Given the description of an element on the screen output the (x, y) to click on. 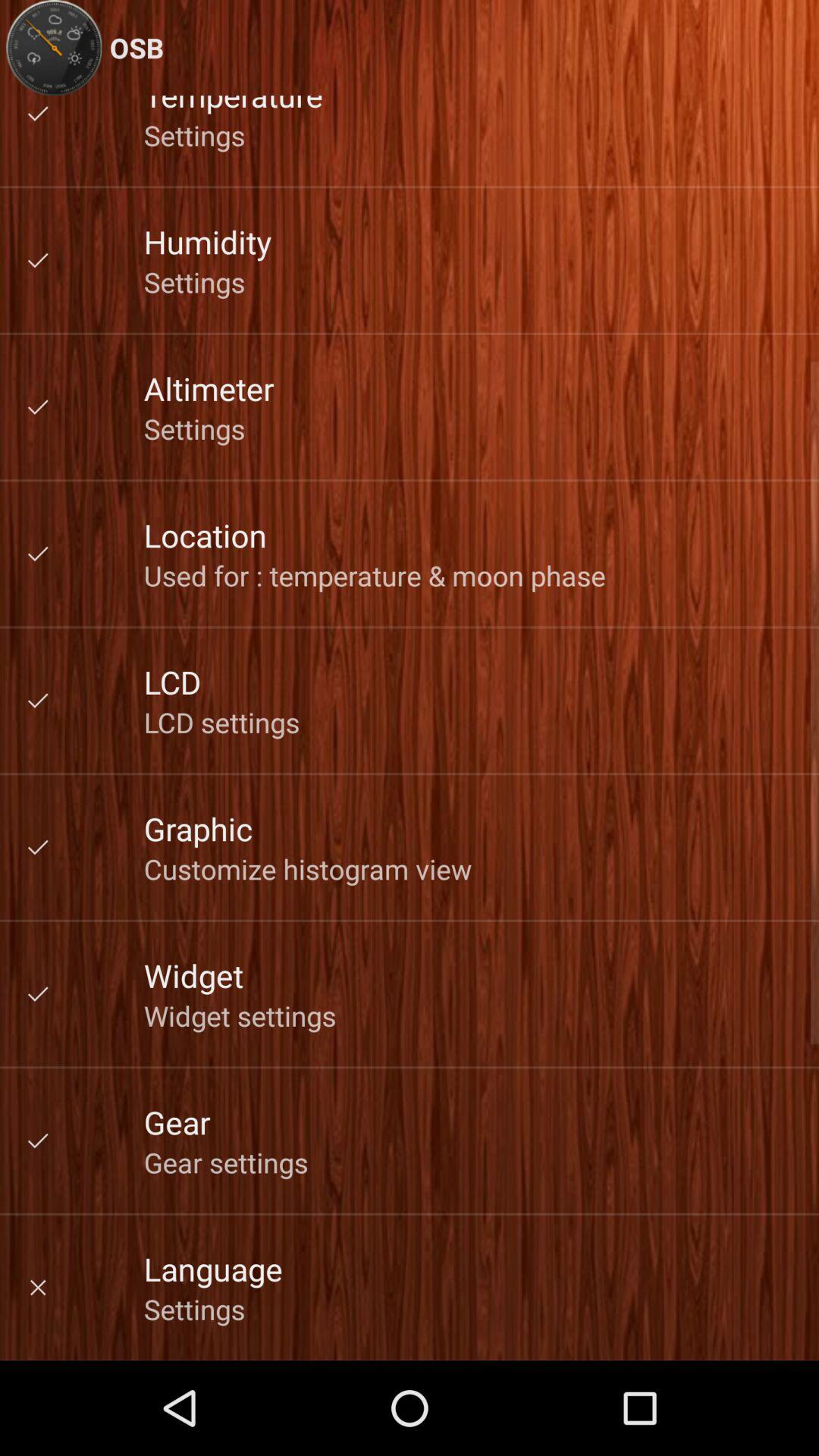
jump until the humidity icon (207, 241)
